Given the description of an element on the screen output the (x, y) to click on. 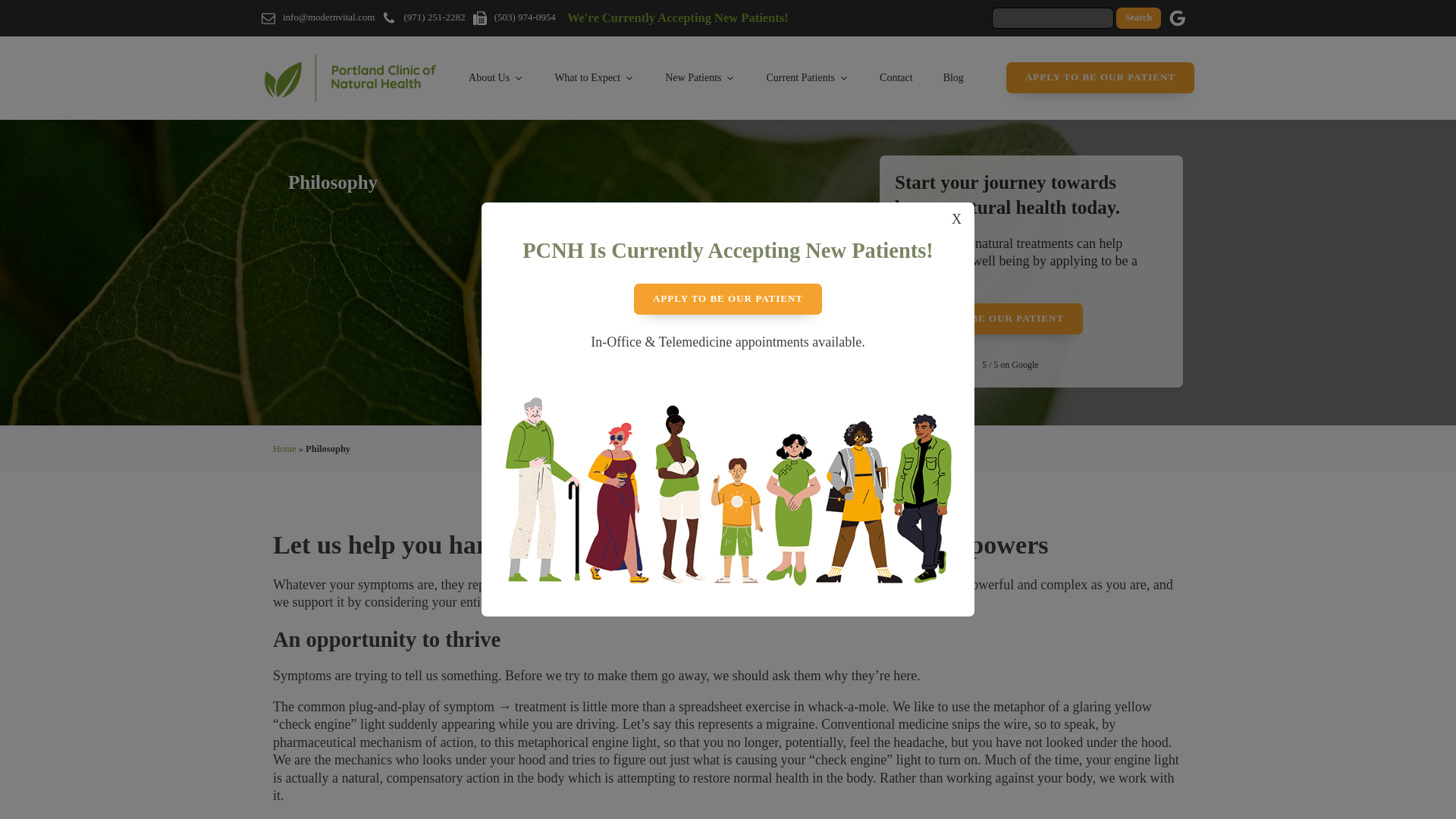
Search (1138, 17)
Current Patients (807, 77)
New Patients (700, 77)
Search (1138, 17)
What to Expect (593, 77)
About Us (495, 77)
